Given the description of an element on the screen output the (x, y) to click on. 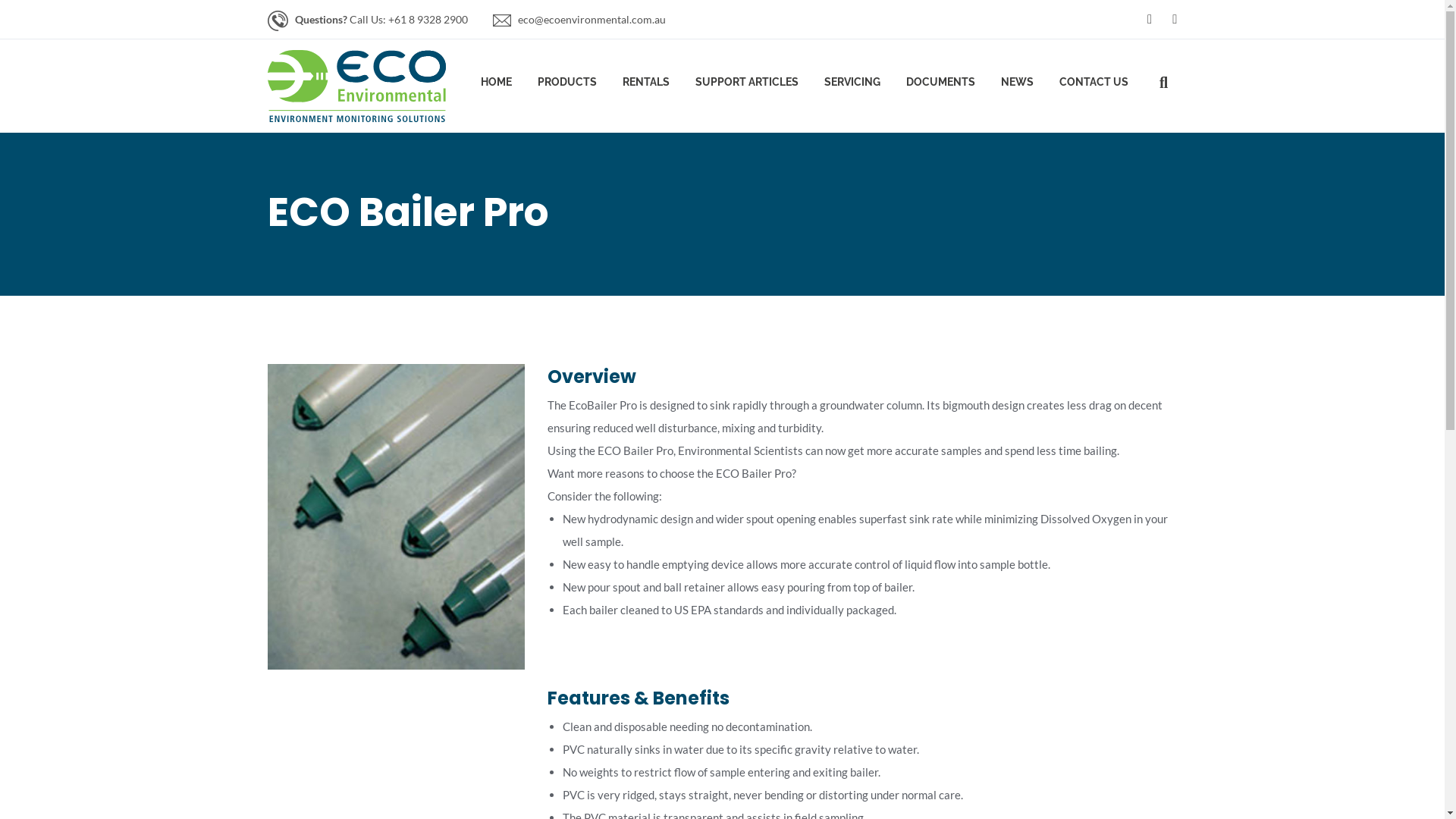
Questions? Call Us: +61 8 9328 2900 Element type: text (380, 18)
DOCUMENTS Element type: text (939, 85)
HOME Element type: text (495, 85)
ecobailer-2 Element type: hover (395, 516)
RENTALS Element type: text (644, 85)
NEWS Element type: text (1017, 85)
SUPPORT ARTICLES Element type: text (745, 85)
SERVICING Element type: text (851, 85)
CONTACT US Element type: text (1092, 85)
PRODUCTS Element type: text (566, 85)
eco@ecoenvironmental.com.au Element type: text (591, 18)
